Given the description of an element on the screen output the (x, y) to click on. 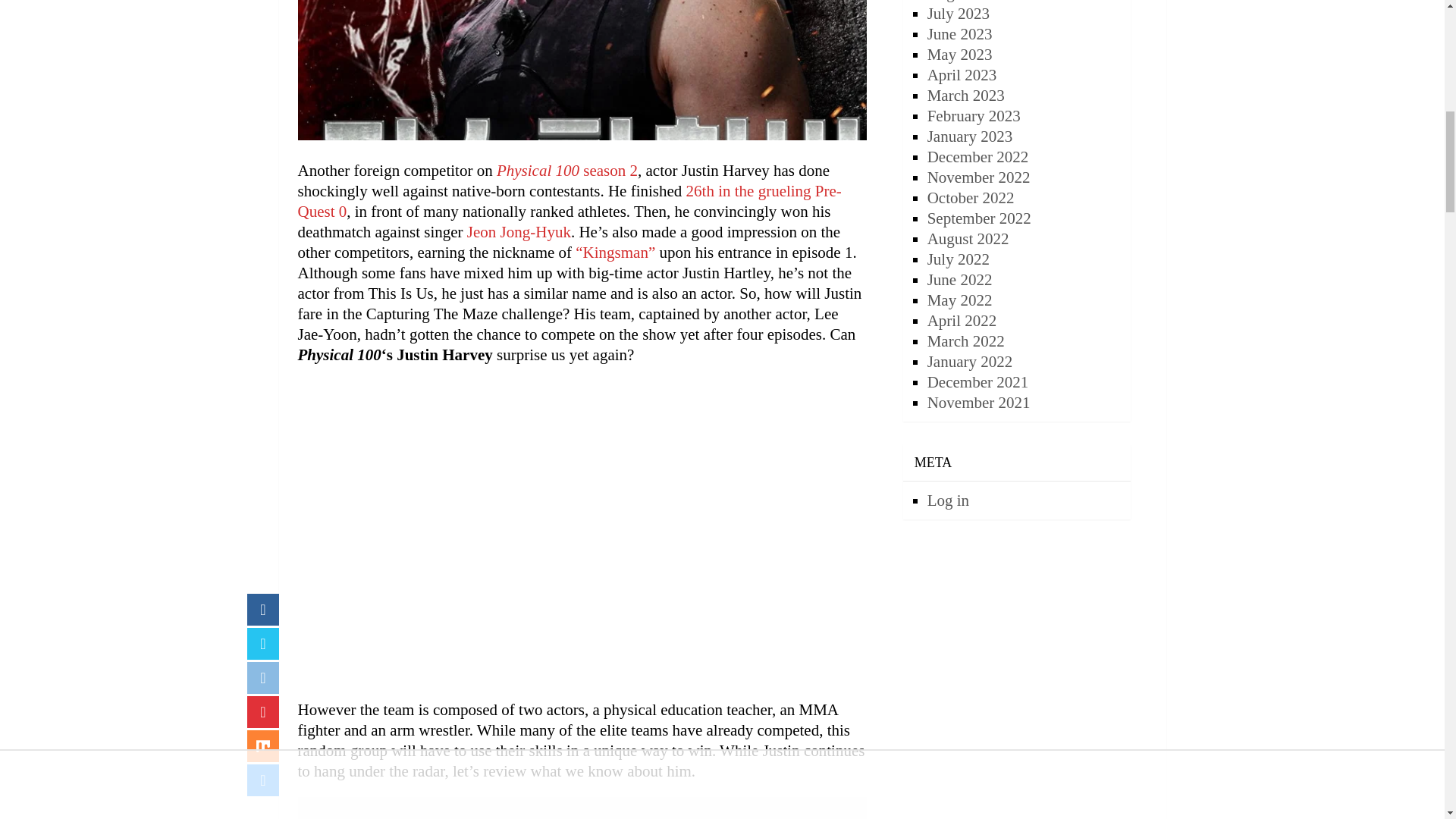
Jeon Jong-Hyuk (518, 231)
Physical 100 (537, 170)
season 2 (608, 170)
26th in the grueling Pre-Quest 0 (569, 200)
